Given the description of an element on the screen output the (x, y) to click on. 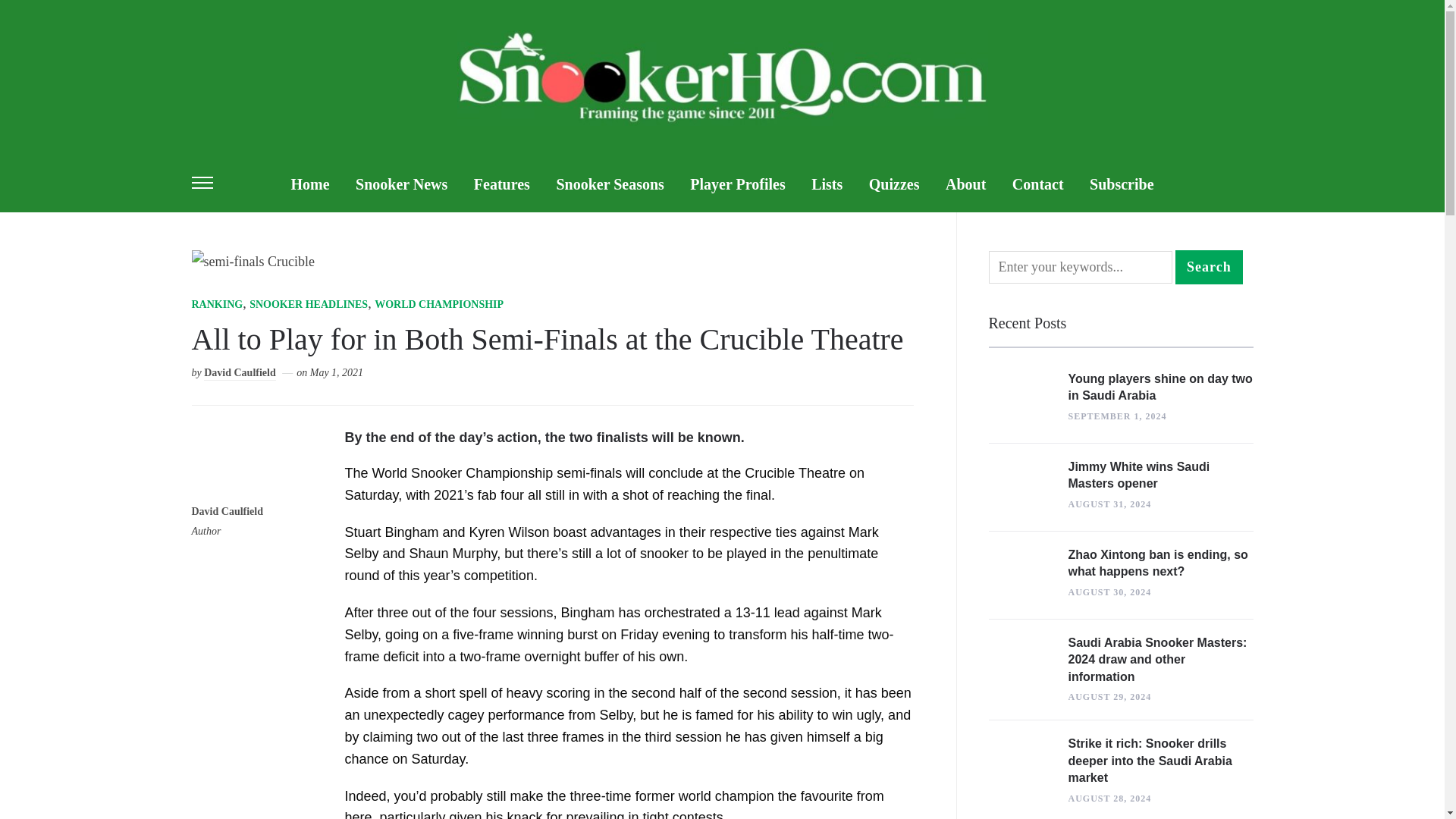
Posts by David Caulfield (226, 512)
Search (1208, 267)
Posts by David Caulfield (239, 373)
Search (1208, 267)
